Given the description of an element on the screen output the (x, y) to click on. 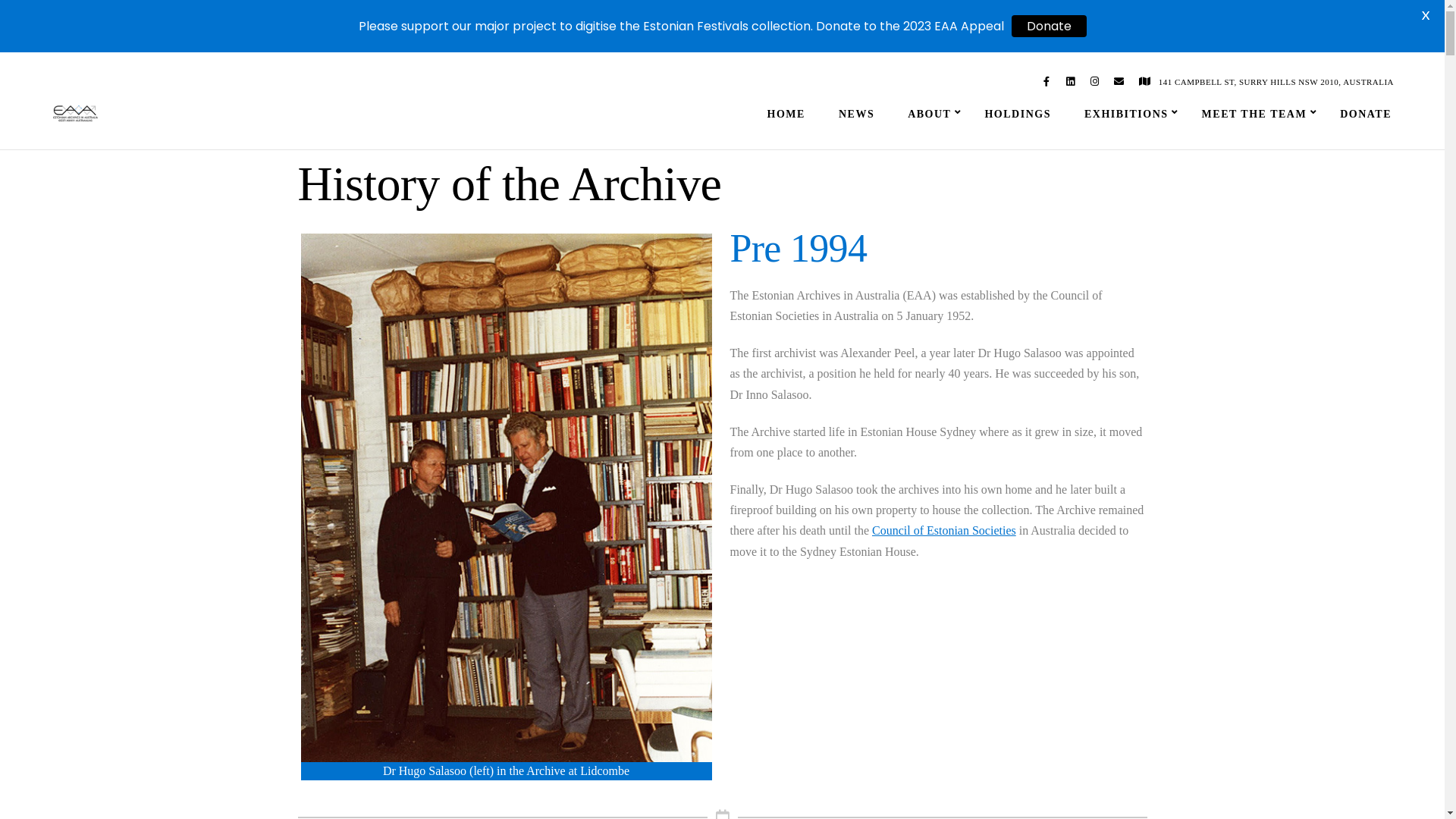
X Element type: text (1425, 14)
MEET THE TEAM Element type: text (1254, 114)
Donate Element type: text (1048, 26)
HOME Element type: text (786, 114)
HOLDINGS Element type: text (1017, 114)
Council of Estonian Societies Element type: text (944, 530)
ABOUT Element type: text (928, 114)
DONATE Element type: text (1365, 114)
EXHIBITIONS Element type: text (1126, 114)
NEWS Element type: text (856, 114)
